Given the description of an element on the screen output the (x, y) to click on. 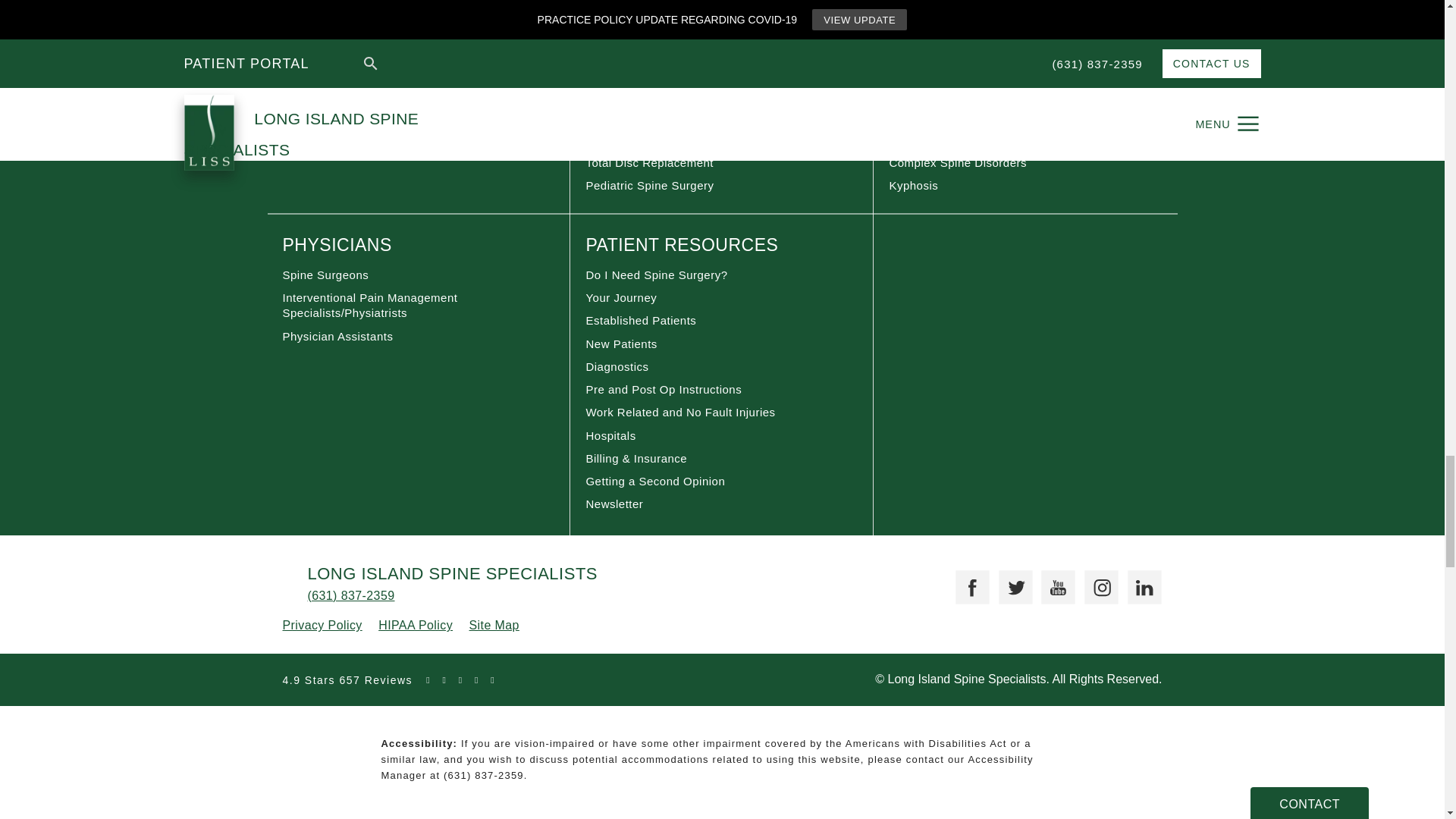
Long Island Spine Specialists on Linkedin (1138, 581)
Long Island Spine Specialists on Youtube (1053, 581)
Long Island Spine Specialists on Facebook (965, 581)
Long Island Spine Specialists on Twitter (1009, 581)
Long Island Spine Specialists on Instagram (1095, 581)
